Given the description of an element on the screen output the (x, y) to click on. 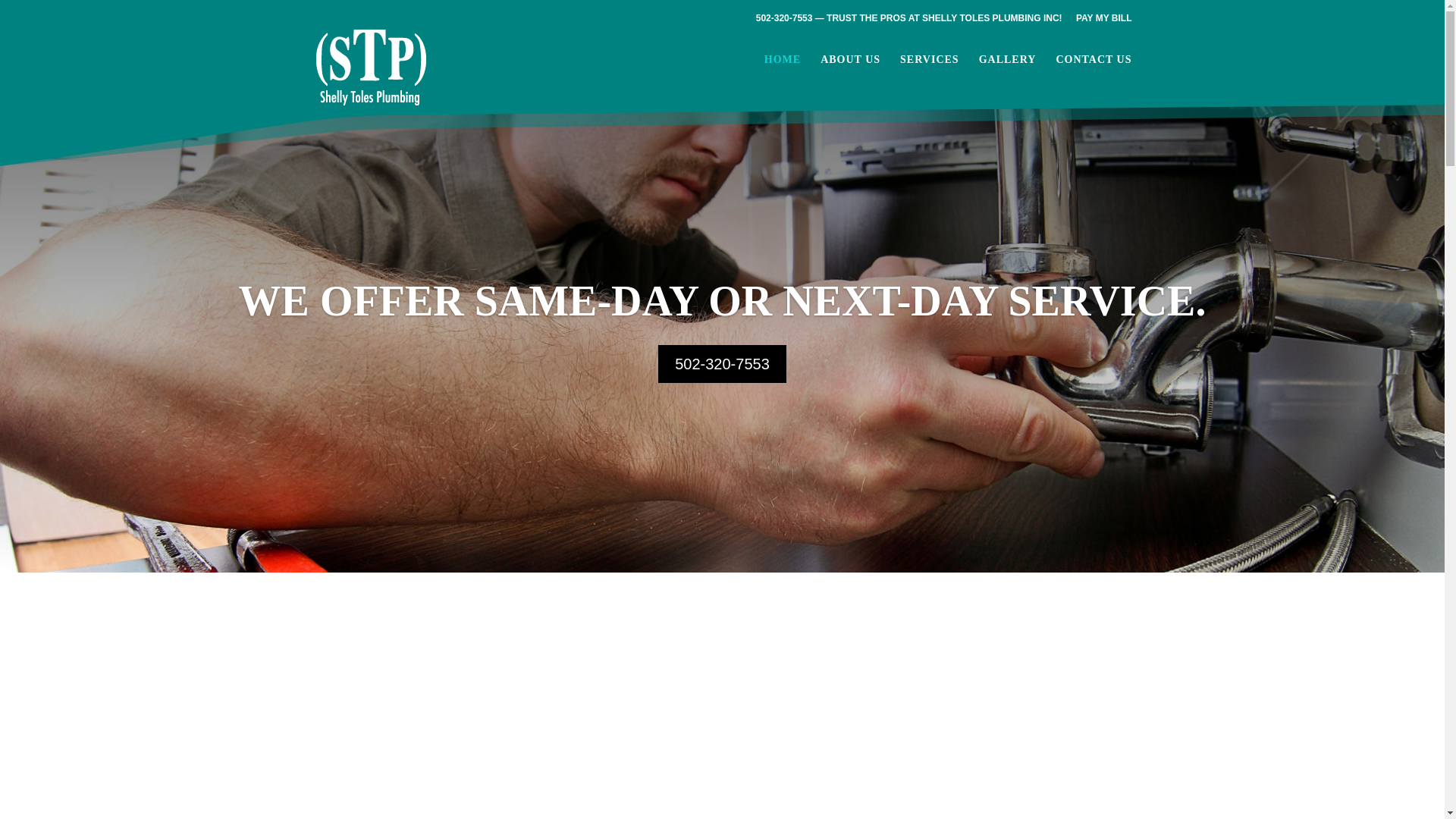
ABOUT US (850, 72)
HOME (782, 72)
SERVICES (929, 72)
CONTACT US (1093, 72)
GALLERY (1007, 72)
502-320-7553 (722, 402)
PAY MY BILL (1103, 21)
WE OFFER SAME-DAY OR NEXT-DAY SERVICE. (722, 342)
